Given the description of an element on the screen output the (x, y) to click on. 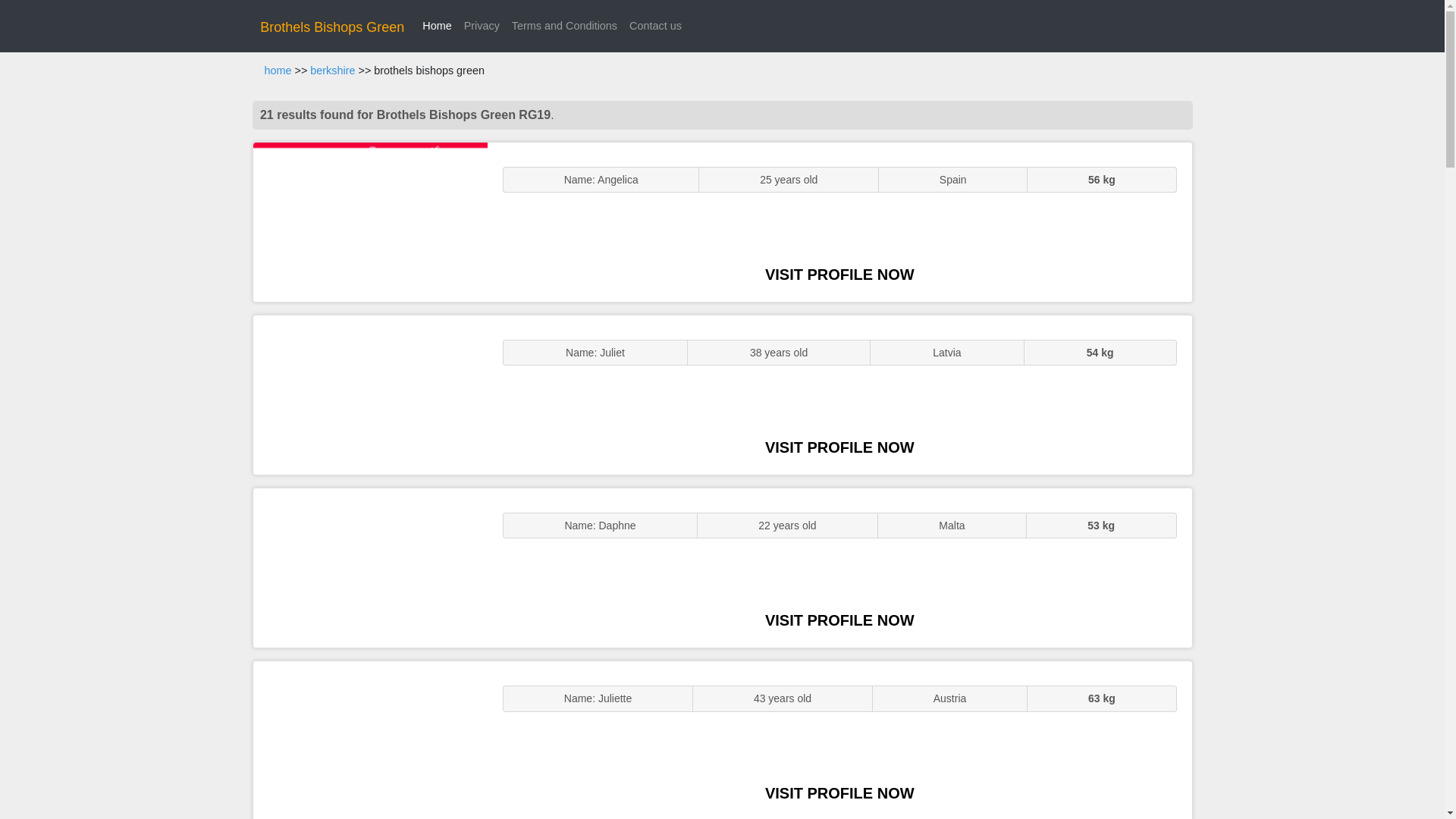
berkshire (332, 70)
Privacy (481, 25)
GFE (370, 395)
Contact us (655, 25)
Sluts (370, 739)
VISIT PROFILE NOW (839, 619)
Brothels Bishops Green (332, 27)
home (277, 70)
VISIT PROFILE NOW (839, 274)
VISIT PROFILE NOW (839, 446)
